Given the description of an element on the screen output the (x, y) to click on. 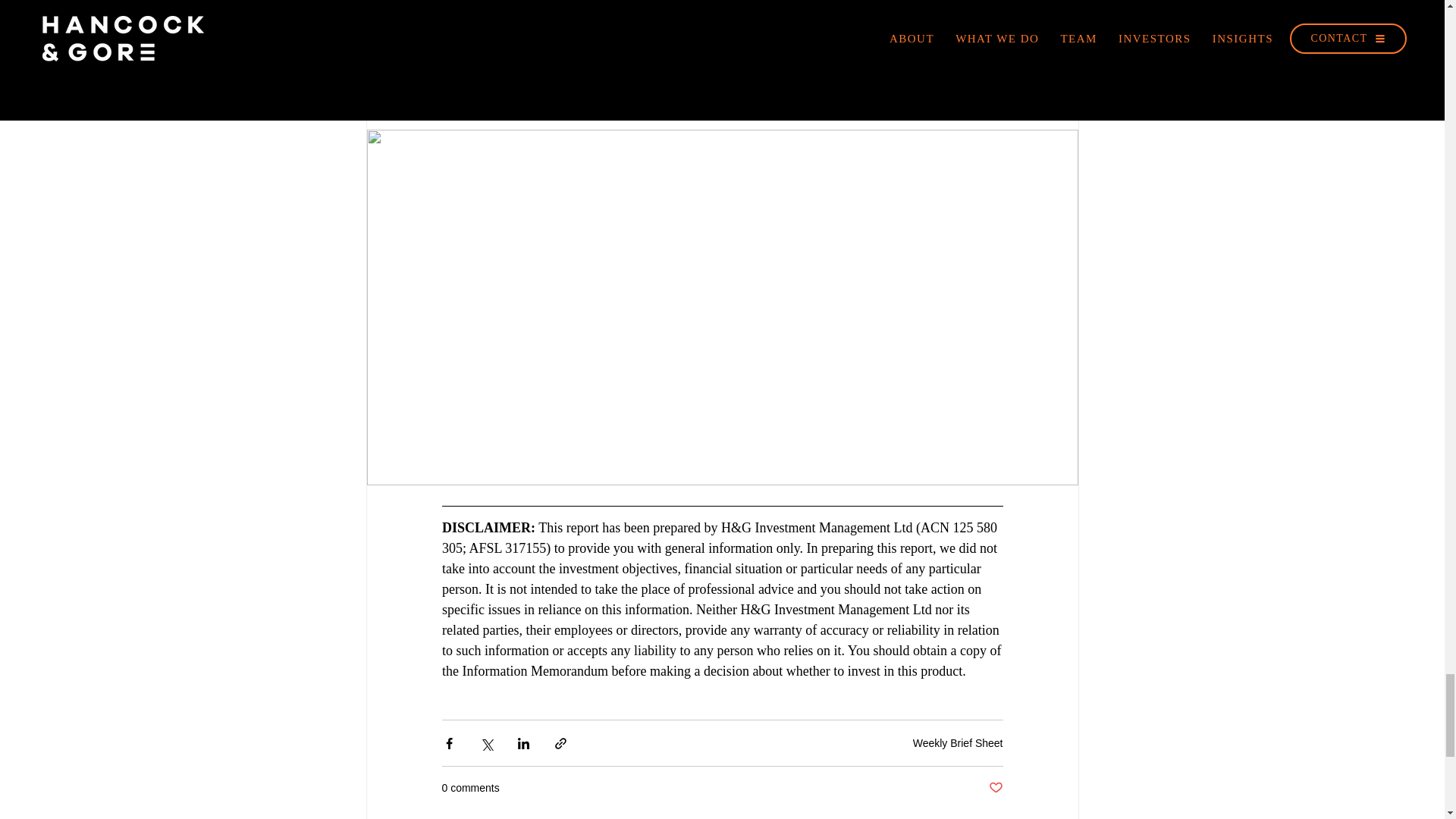
Post not marked as liked (995, 788)
Weekly Brief Sheet (957, 743)
